Given the description of an element on the screen output the (x, y) to click on. 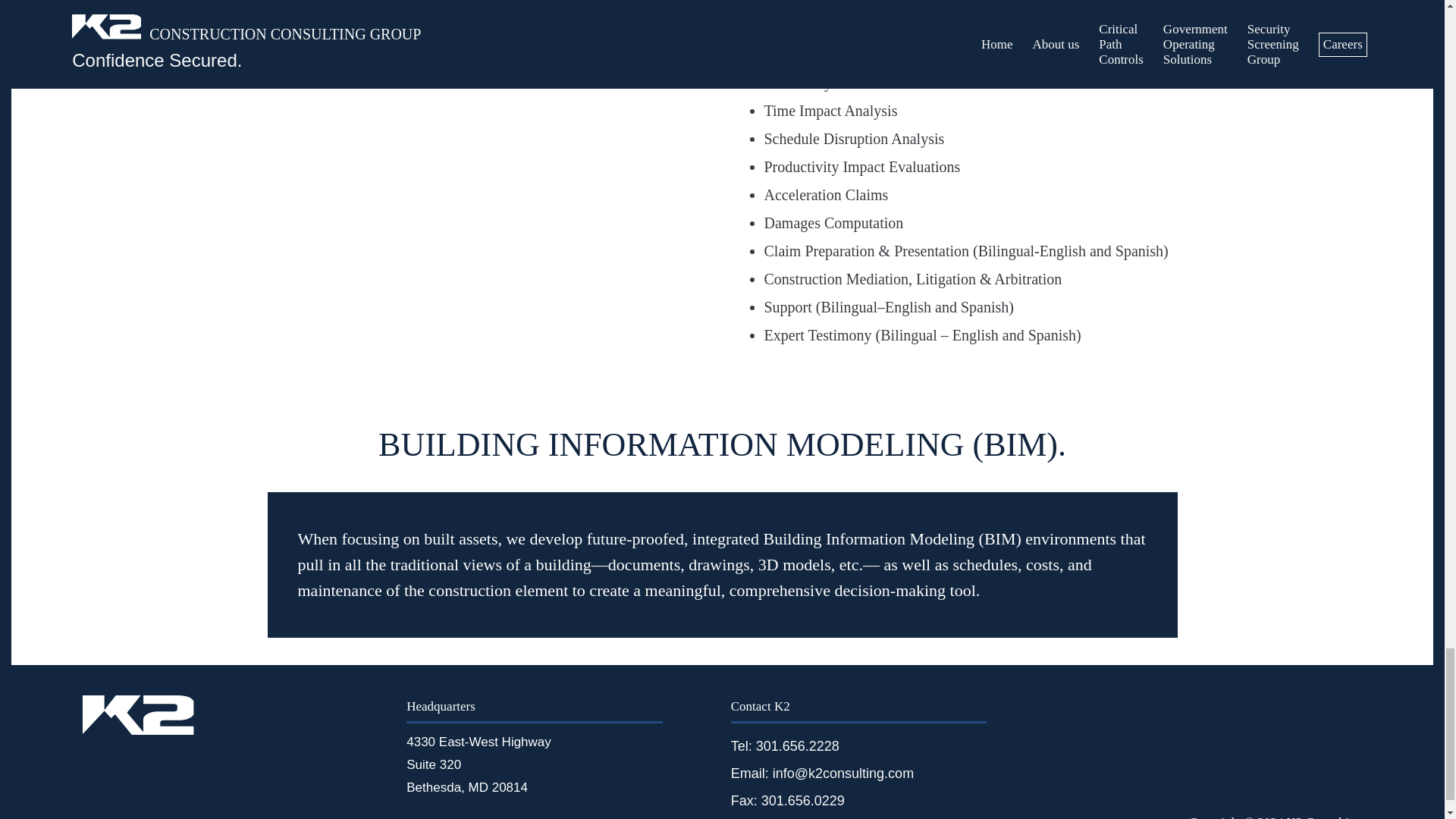
Fax: 301.656.0229 (787, 800)
Tel: 301.656.2228 (785, 745)
